Given the description of an element on the screen output the (x, y) to click on. 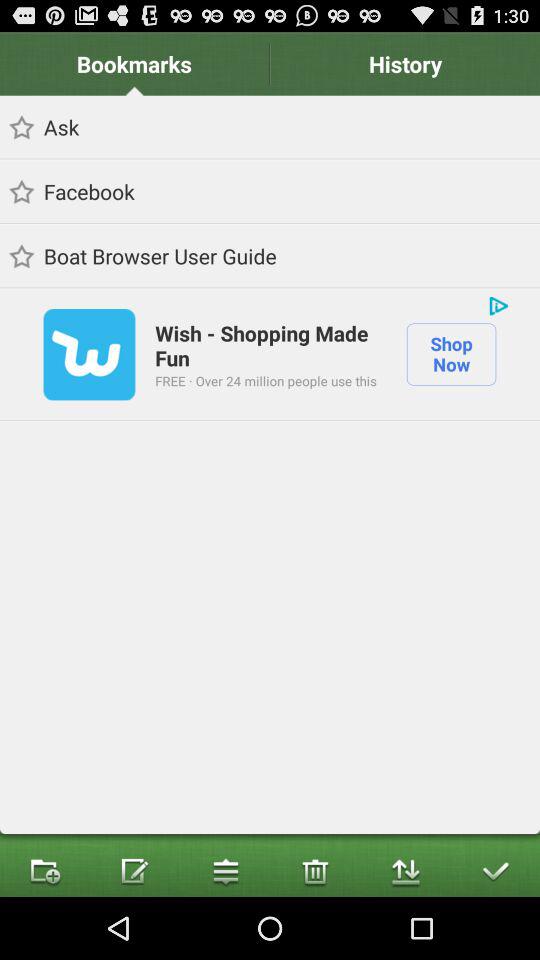
launch the item next to wish shopping made (89, 354)
